Given the description of an element on the screen output the (x, y) to click on. 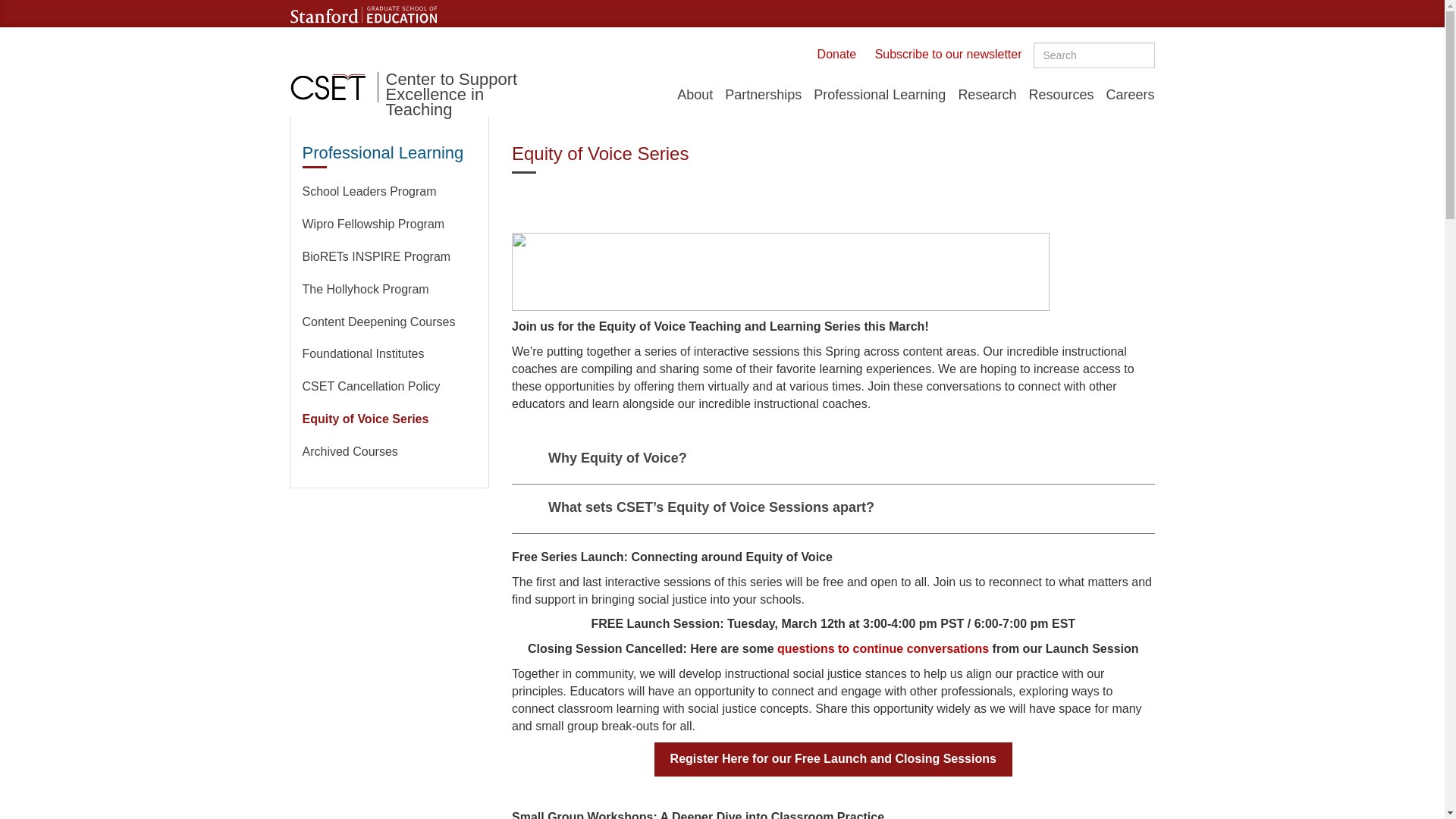
Careers (1126, 94)
Research (987, 94)
Center to Support Excellence in Teaching (465, 87)
Donate (836, 53)
Search (1048, 76)
Partnerships (763, 94)
Enter the terms you wish to search for. (1093, 54)
Resources (1060, 94)
About (695, 94)
Professional Learning (880, 94)
